Given the description of an element on the screen output the (x, y) to click on. 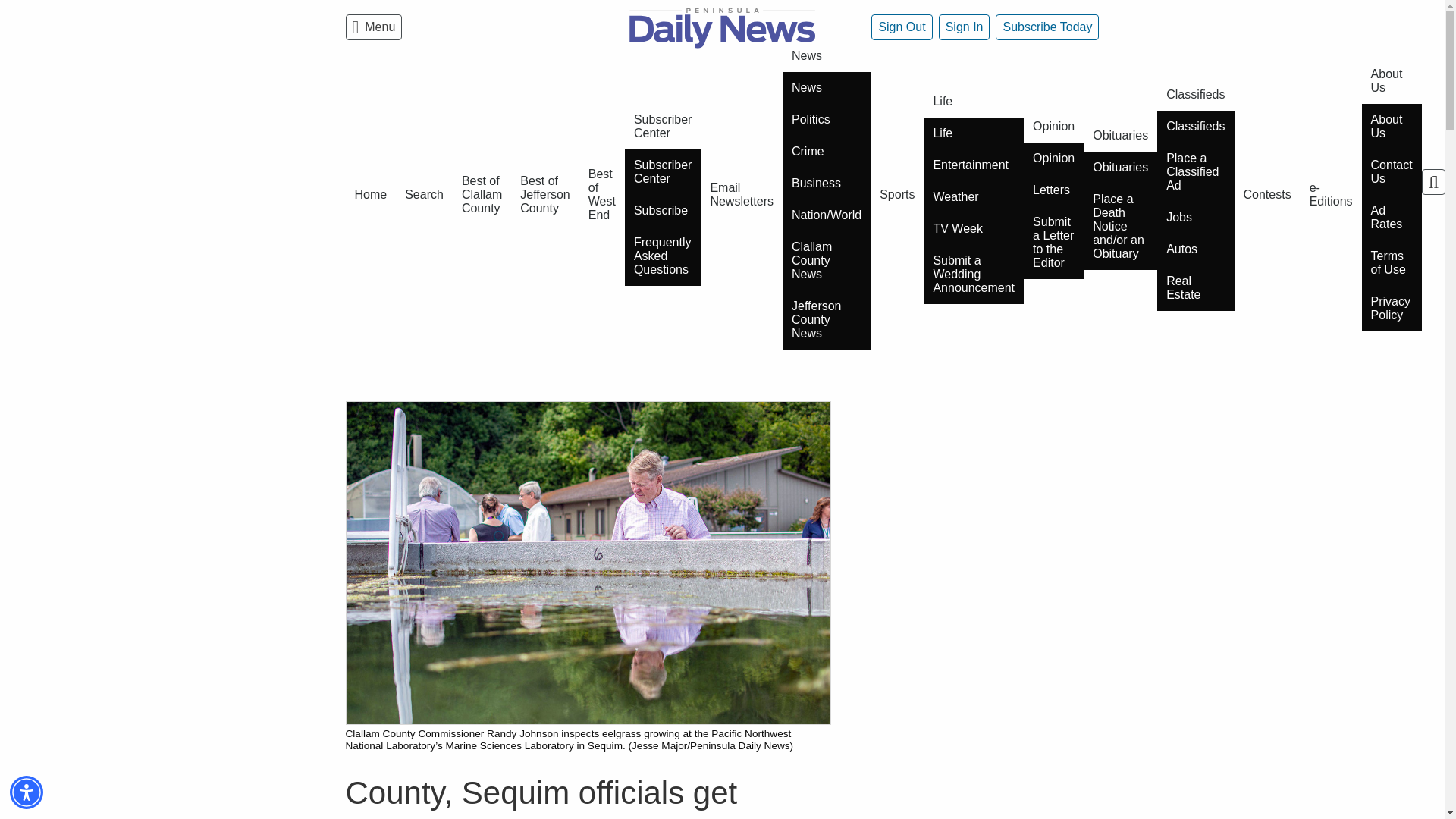
Accessibility Menu (26, 792)
